Given the description of an element on the screen output the (x, y) to click on. 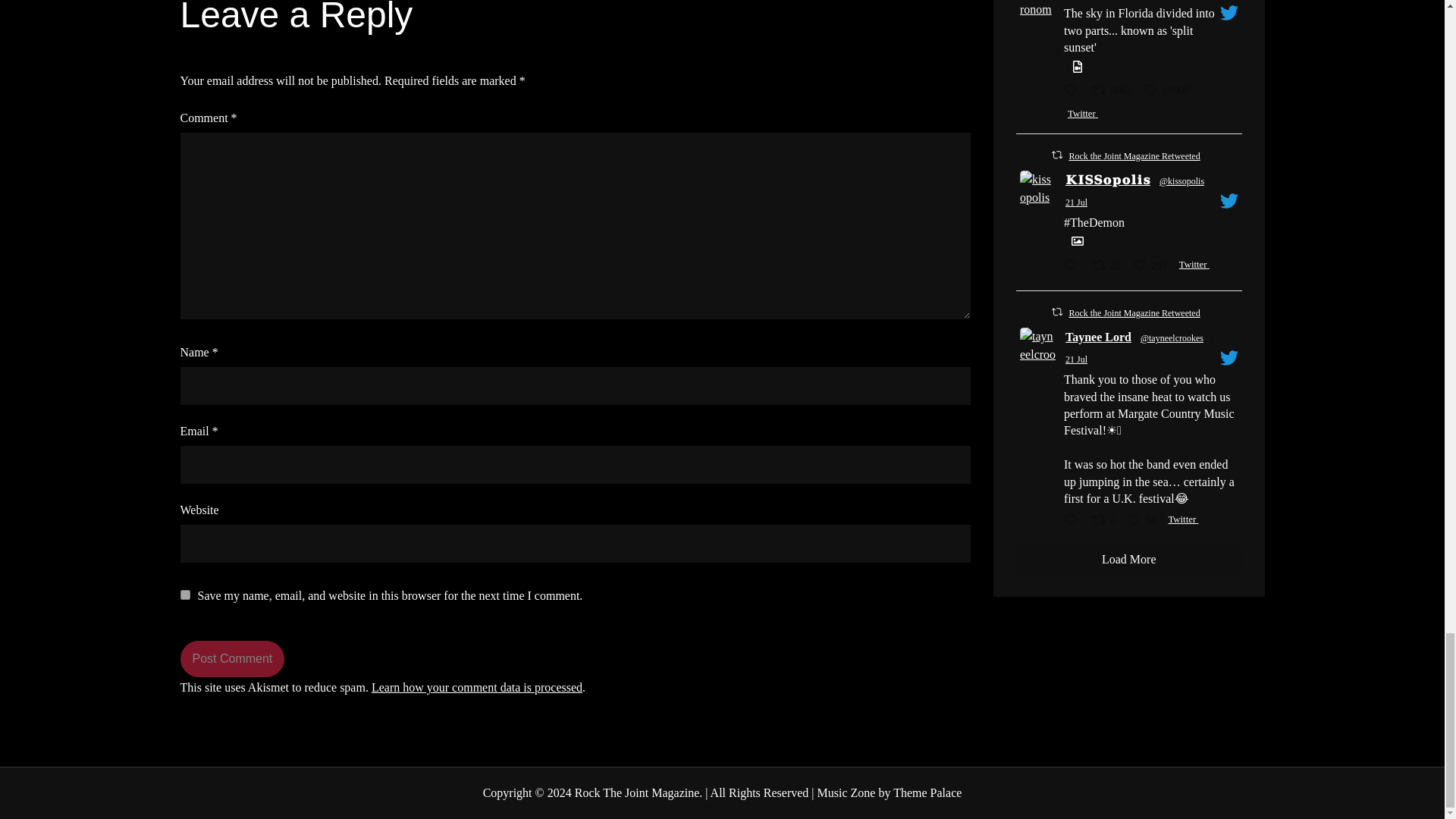
Post Comment (232, 658)
Post Comment (232, 658)
yes (185, 594)
